Given the description of an element on the screen output the (x, y) to click on. 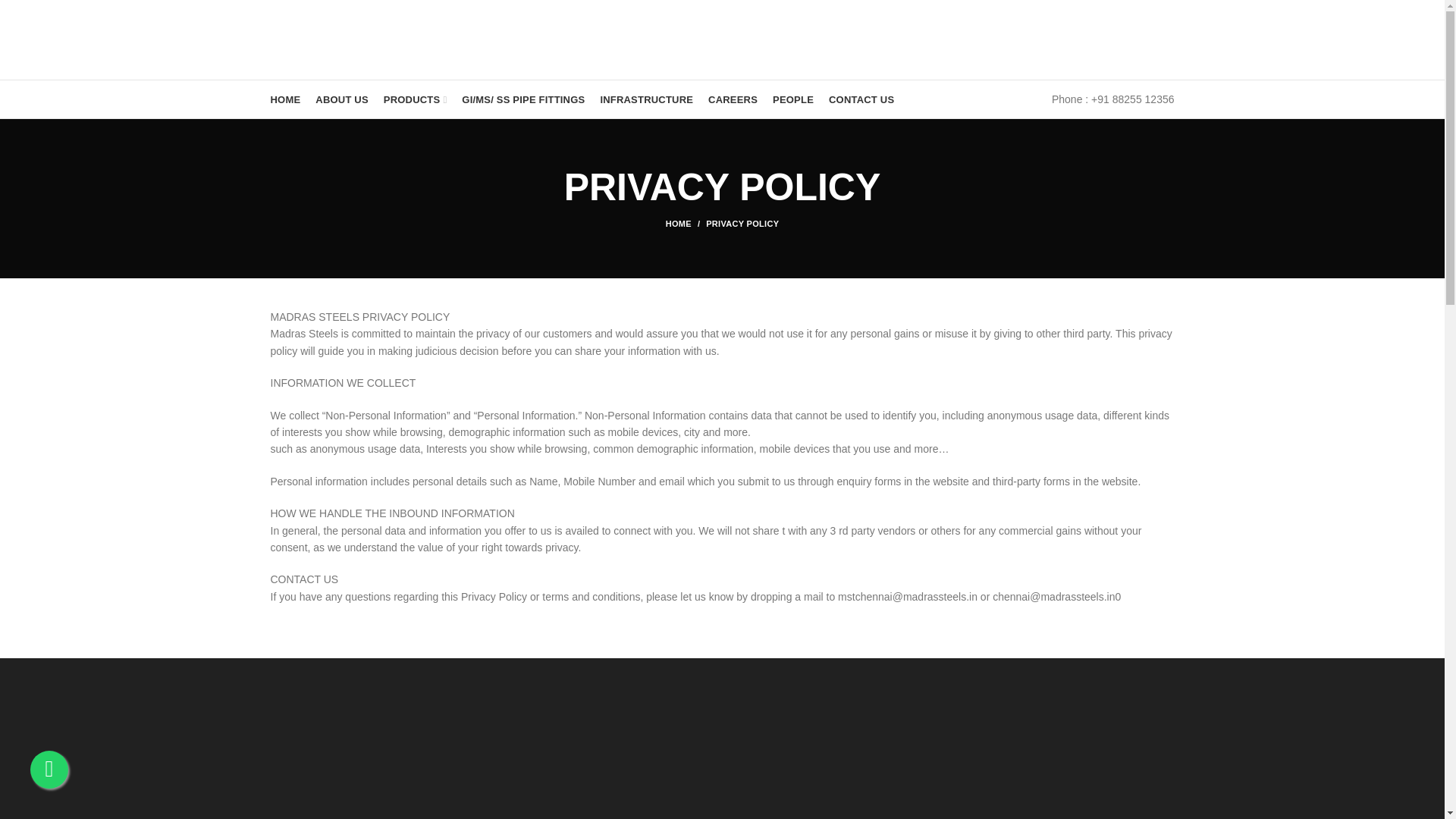
ABOUT US (341, 98)
INFRASTRUCTURE (646, 98)
HOME (284, 98)
CONTACT US (861, 98)
PEOPLE (793, 98)
CAREERS (732, 98)
HOME (685, 223)
PRODUCTS (414, 98)
